Given the description of an element on the screen output the (x, y) to click on. 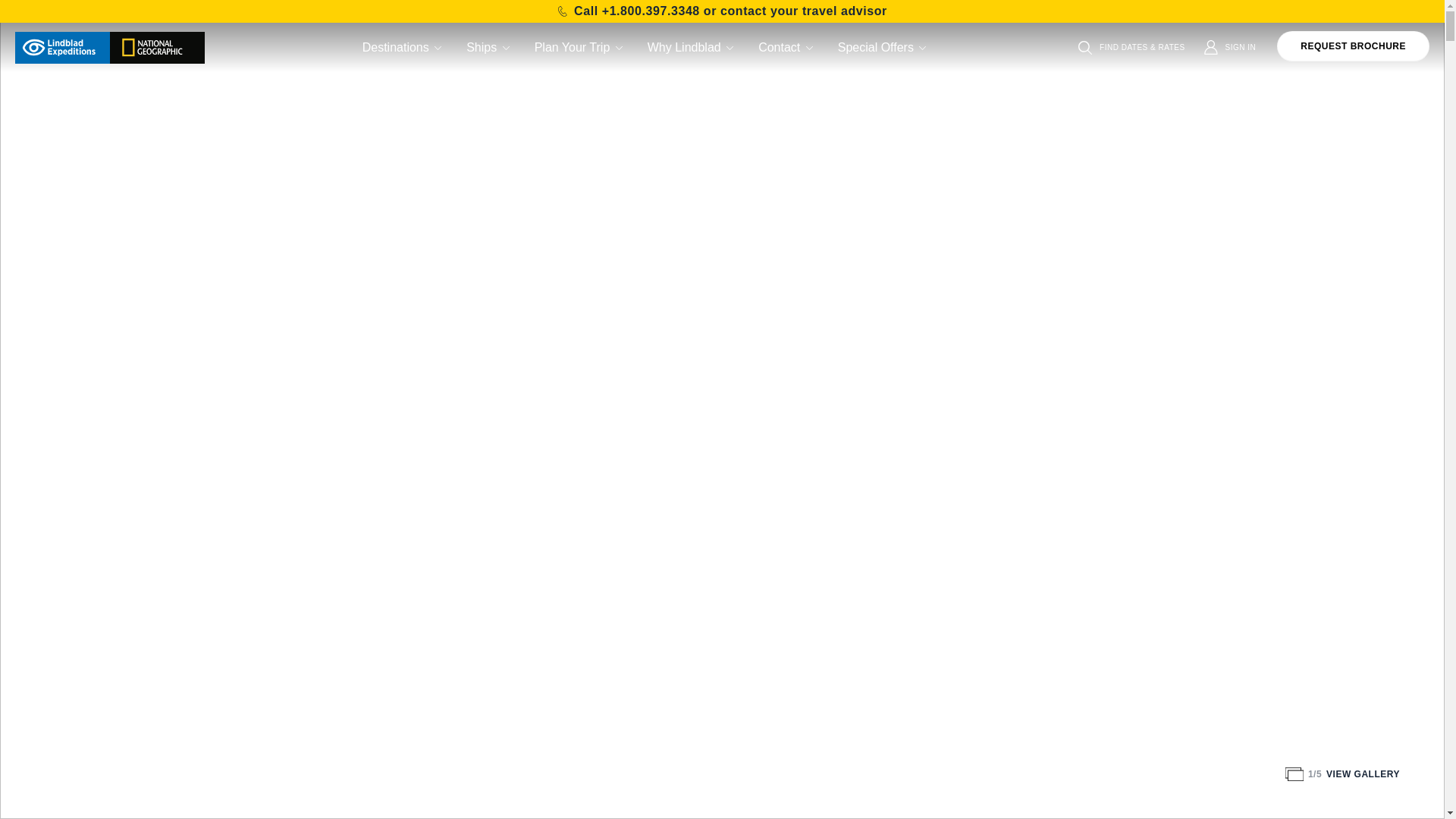
Destinations (403, 47)
